Given the description of an element on the screen output the (x, y) to click on. 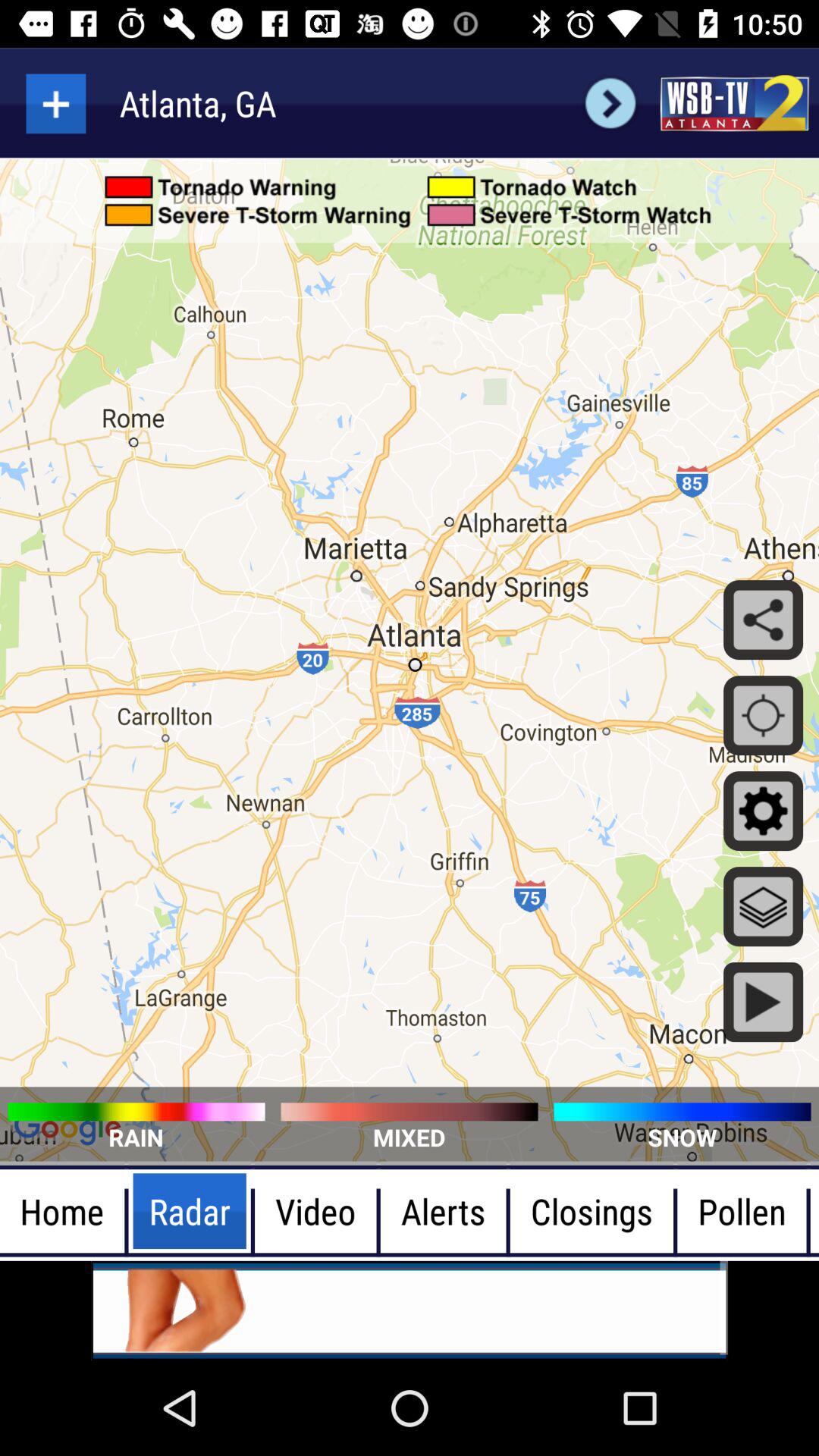
go forward (610, 103)
